Given the description of an element on the screen output the (x, y) to click on. 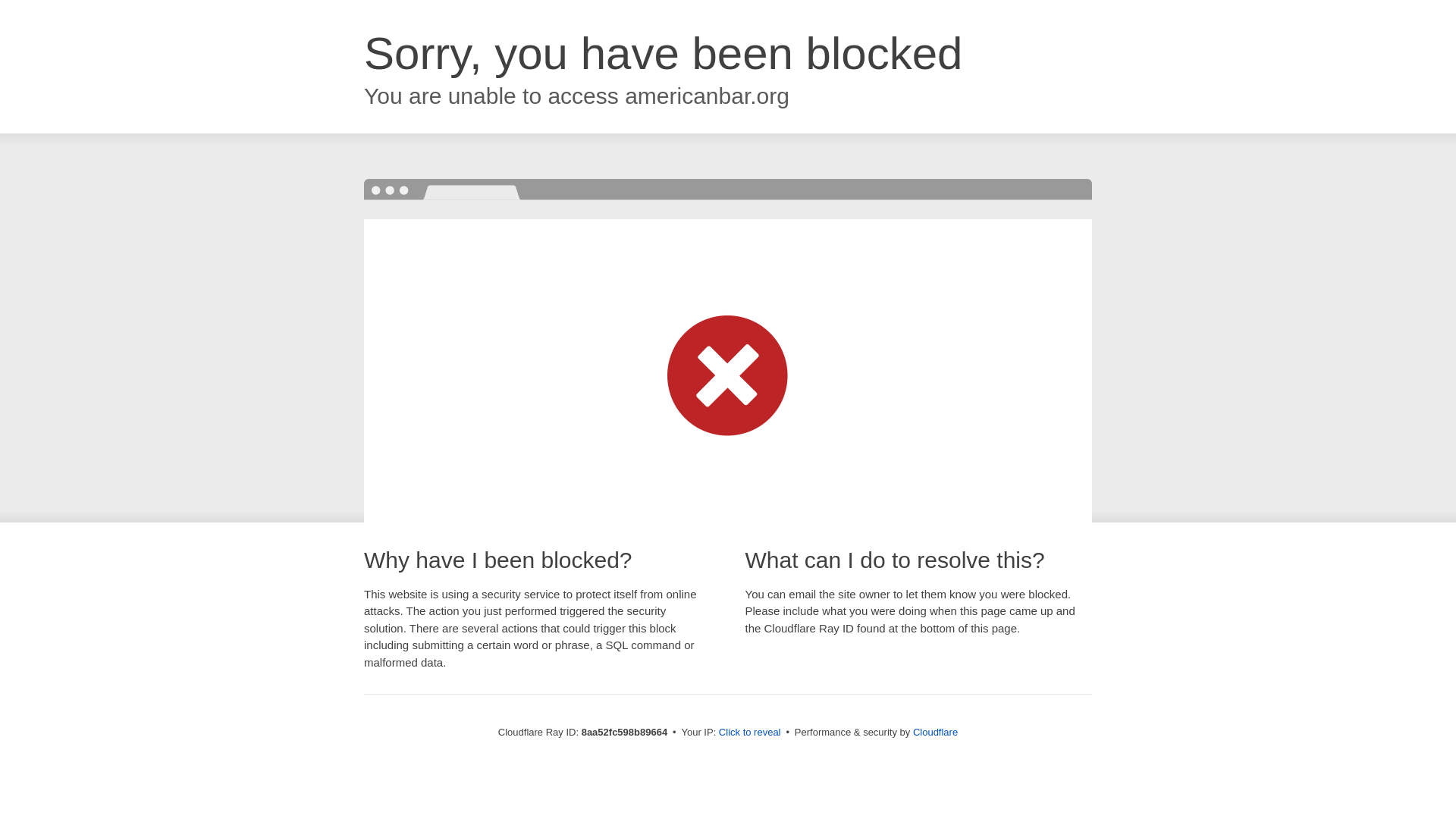
Click to reveal (749, 732)
Cloudflare (935, 731)
